Given the description of an element on the screen output the (x, y) to click on. 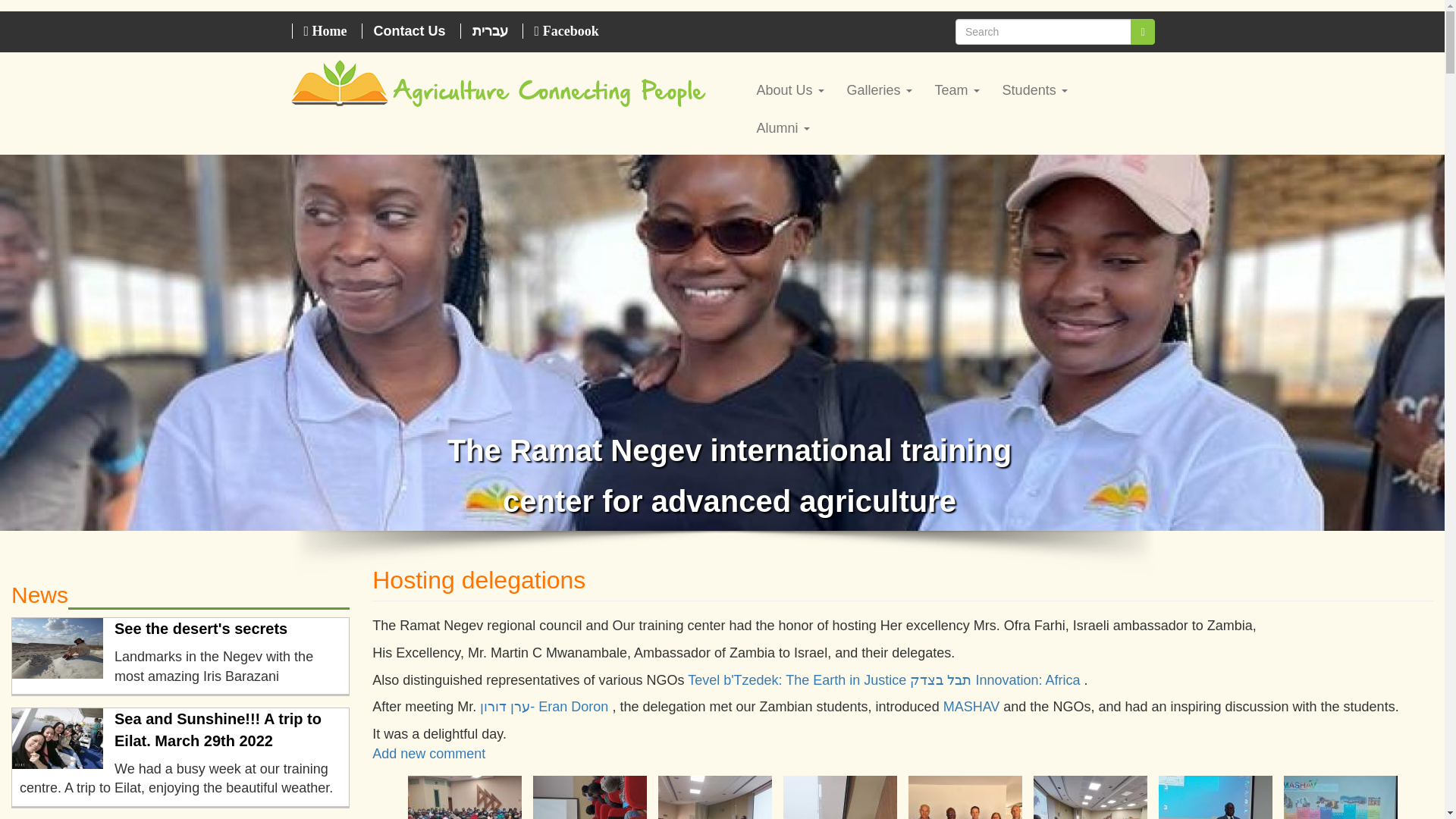
Hosting delegations (1340, 796)
Hosting delegations (1090, 796)
Add new comment (428, 753)
Who Are we? (789, 89)
Home (325, 30)
Hosting delegations (839, 796)
Hosting delegations (965, 796)
Share your thoughts and opinions. (428, 753)
Facebook (566, 30)
Innovation: Africa (1027, 679)
